Given the description of an element on the screen output the (x, y) to click on. 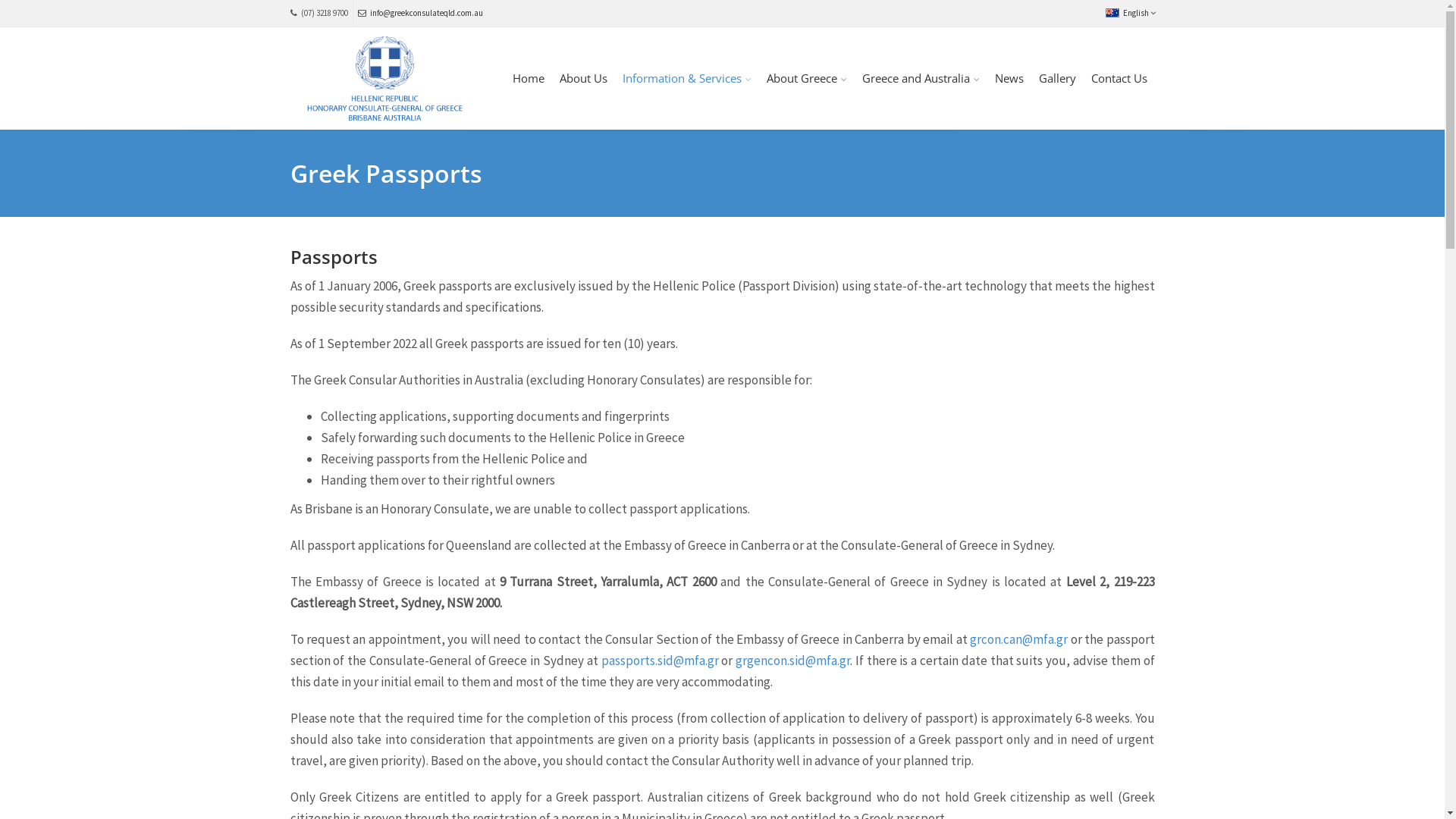
News Element type: text (1009, 78)
About Greece Element type: text (805, 78)
Gallery Element type: text (1057, 78)
info@greekconsulateqld.com.au Element type: text (420, 13)
Home Element type: text (528, 78)
About Us Element type: text (583, 78)
Information & Services Element type: text (686, 78)
grgencon.sid@mfa.gr Element type: text (792, 660)
Greece and Australia Element type: text (919, 78)
English Element type: text (1130, 13)
grcon.can@mfa.gr Element type: text (1018, 638)
Contact Us Element type: text (1118, 78)
passports.sid@mfa.gr Element type: text (659, 660)
